Given the description of an element on the screen output the (x, y) to click on. 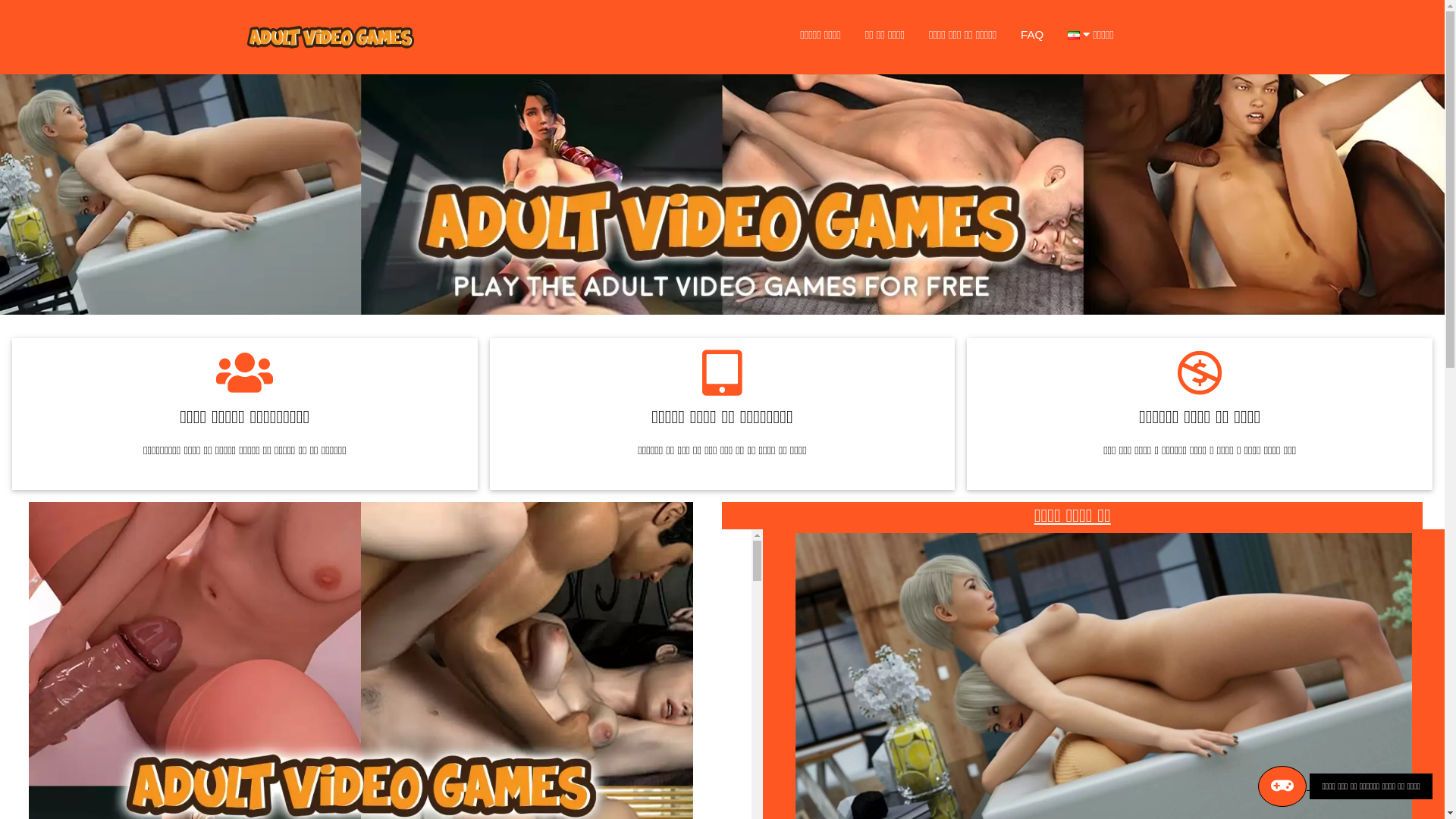
FAQ Element type: text (1031, 35)
